Given the description of an element on the screen output the (x, y) to click on. 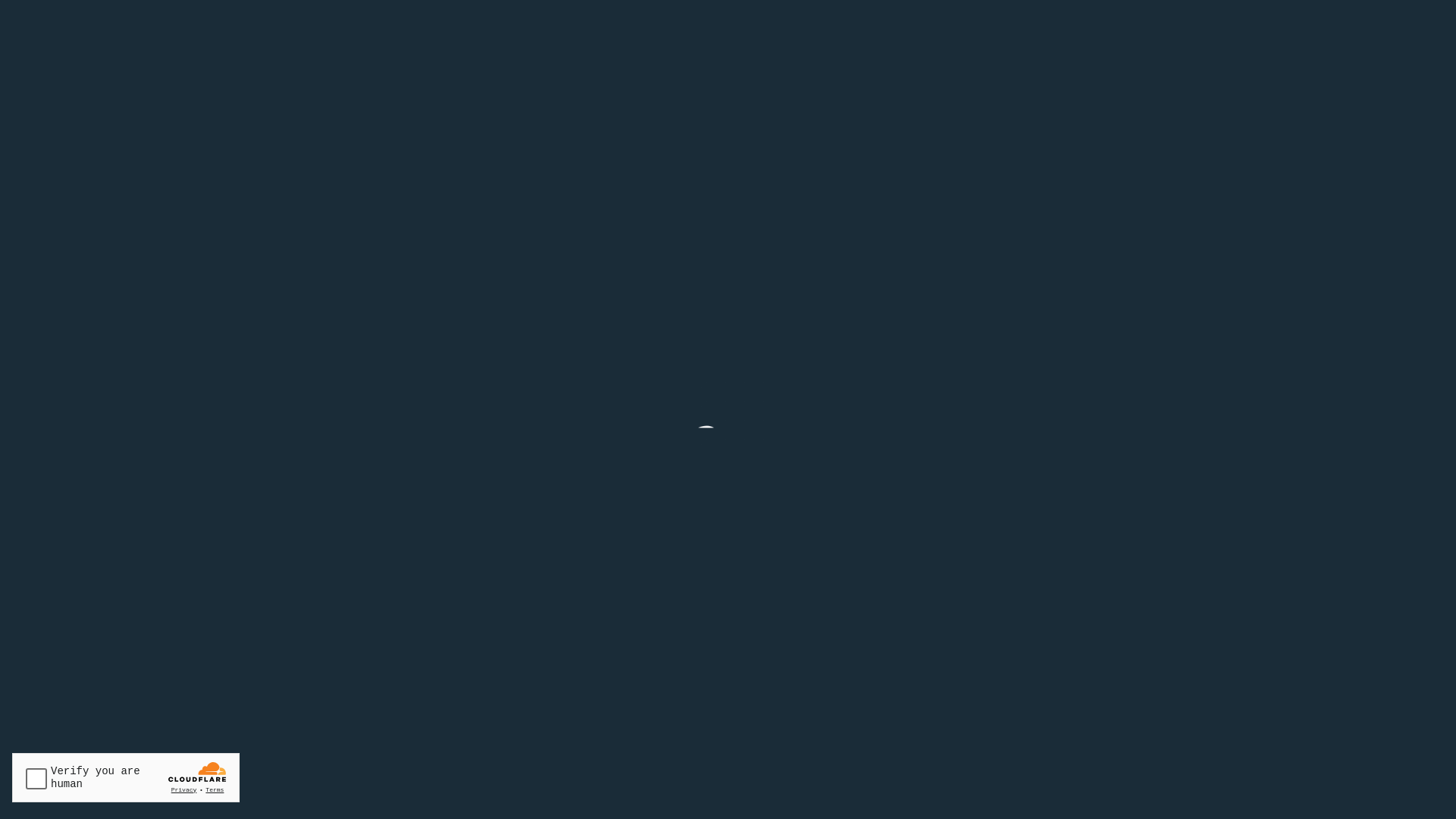
Widget containing a Cloudflare security challenge Element type: hover (125, 777)
